Given the description of an element on the screen output the (x, y) to click on. 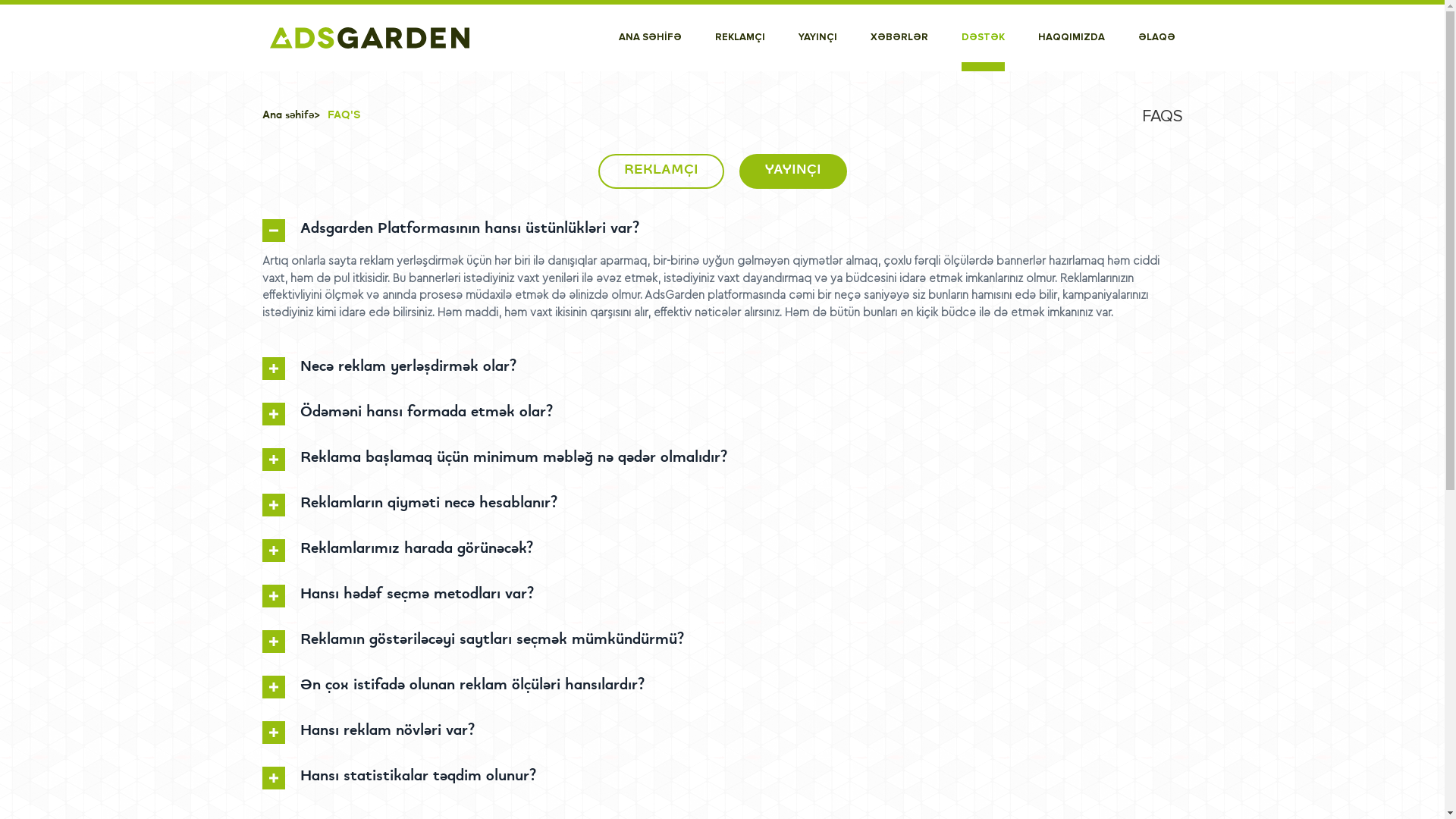
HAQQIMIZDA Element type: text (1070, 37)
